Given the description of an element on the screen output the (x, y) to click on. 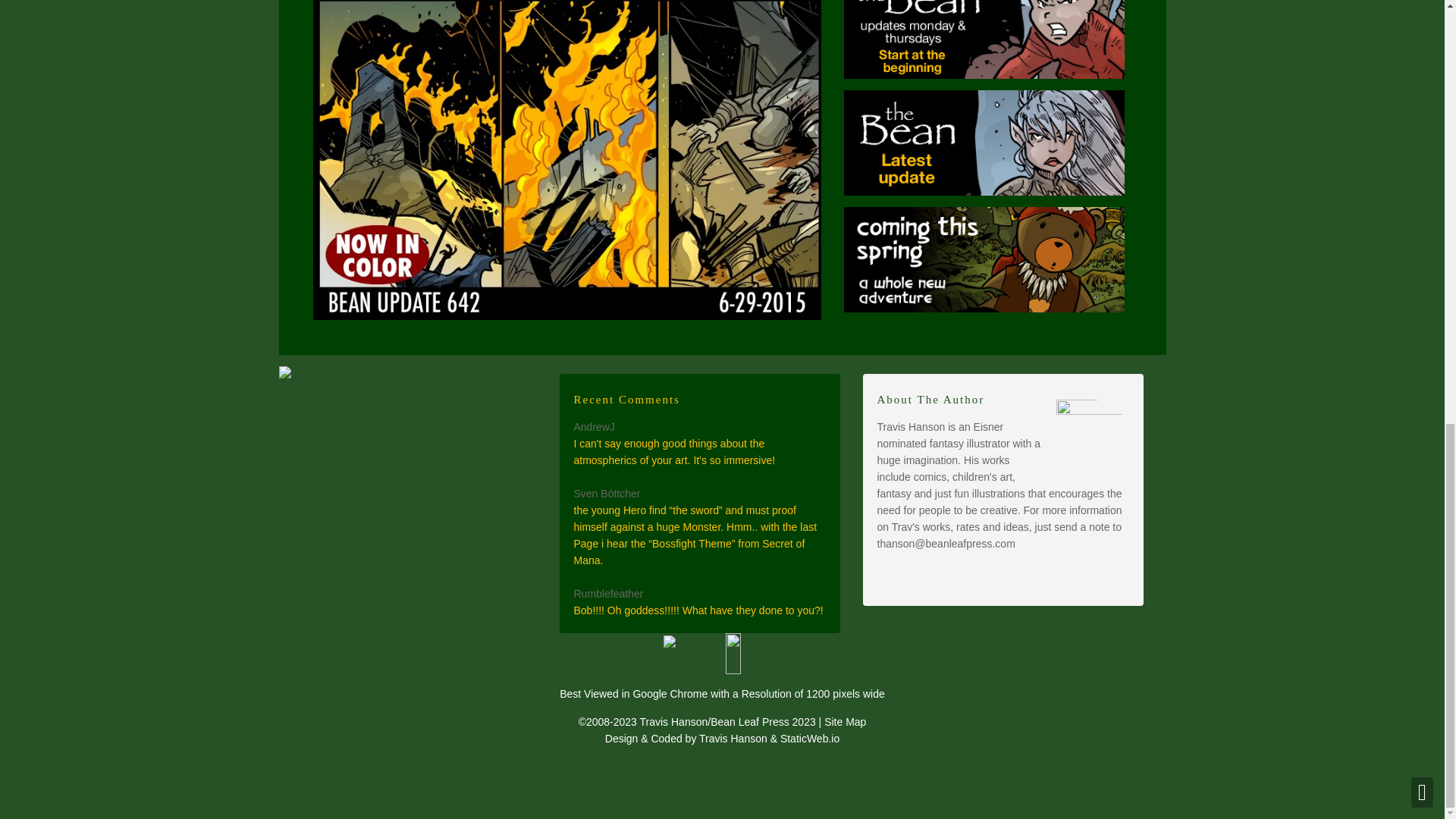
Bob!!!! Oh goddess!!!!! What have they done to you?! (697, 609)
Site Map (845, 721)
